Given the description of an element on the screen output the (x, y) to click on. 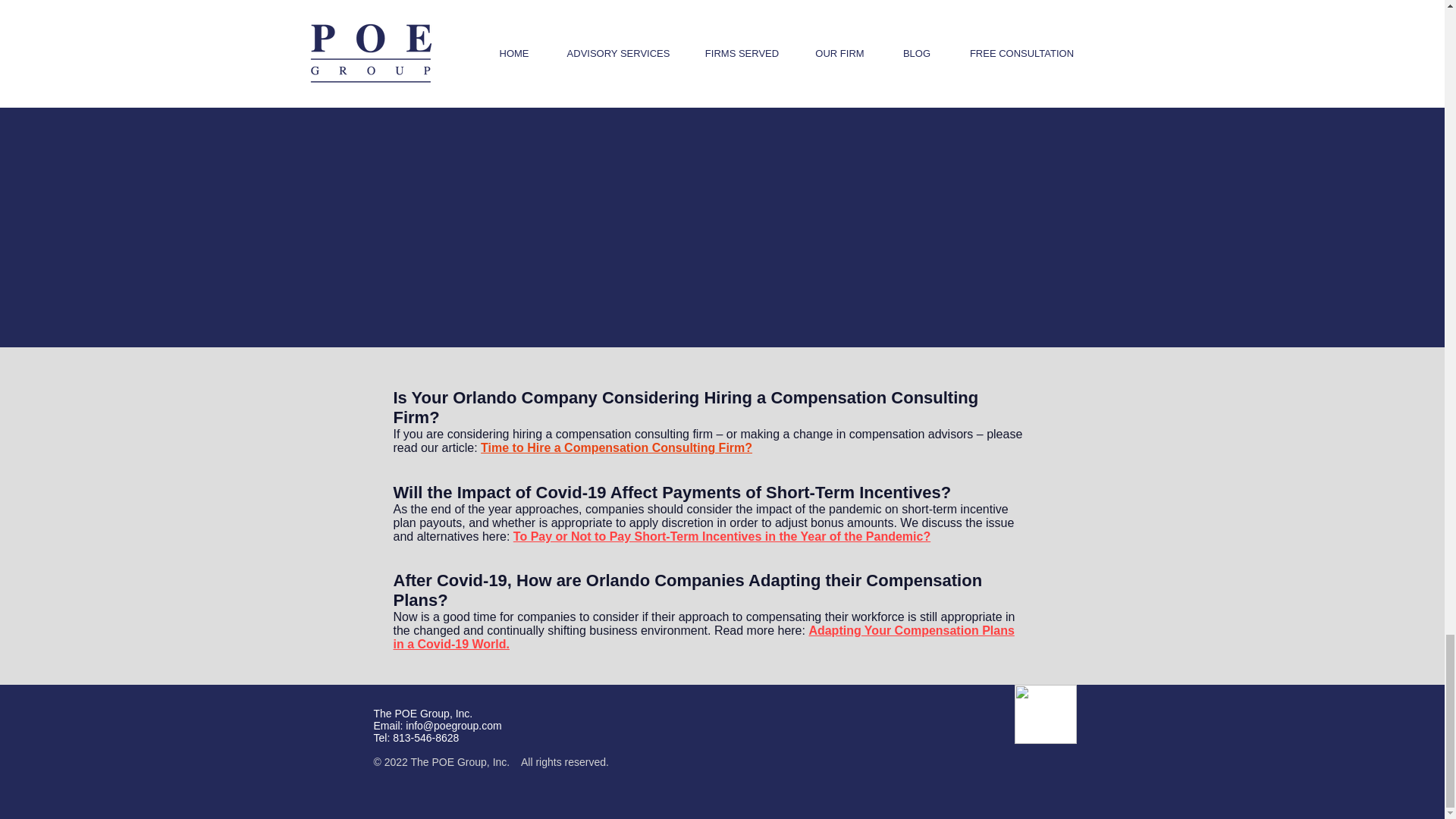
Time to Hire a Compensation Consulting Firm? (616, 447)
Adapting Your Compensation Plans in a Covid-19 World. (703, 637)
